Given the description of an element on the screen output the (x, y) to click on. 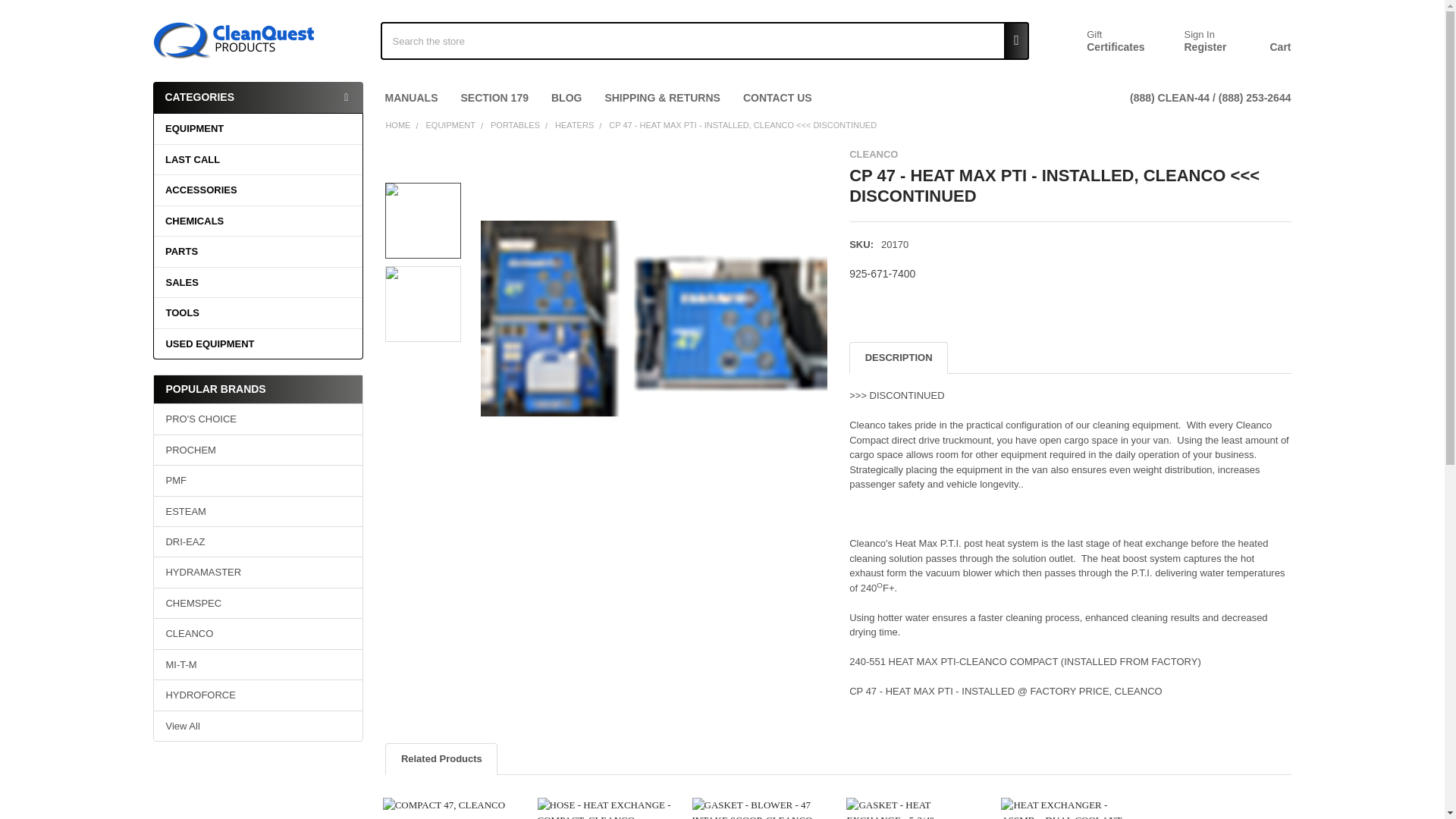
Clean Quest Products (233, 40)
CLEANCO (257, 633)
PRO'S CHOICE (257, 418)
Register (1204, 47)
Search (1012, 40)
Sign In (1198, 34)
HYDROFORCE (257, 694)
CHEMSPEC (257, 603)
ESTEAM (257, 511)
Search (1012, 40)
PMF (257, 480)
Cart (1263, 42)
Gift Certificates (1098, 41)
PROCHEM (257, 450)
Email (887, 312)
